Given the description of an element on the screen output the (x, y) to click on. 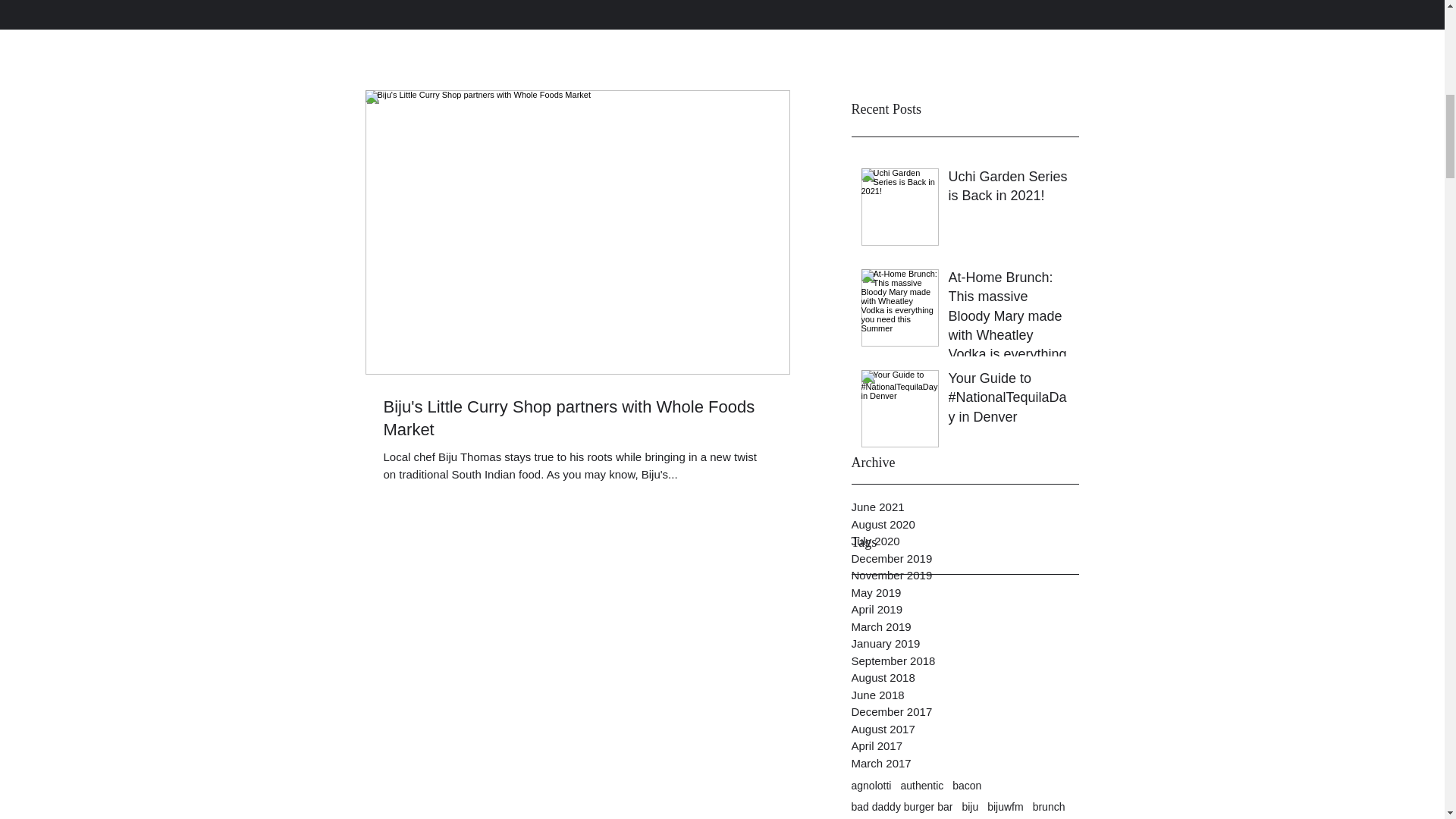
agnolotti (870, 785)
November 2019 (964, 575)
March 2019 (964, 627)
bacon (966, 785)
April 2017 (964, 746)
August 2018 (964, 678)
May 2019 (964, 592)
January 2019 (964, 643)
April 2019 (964, 610)
June 2018 (964, 695)
